Given the description of an element on the screen output the (x, y) to click on. 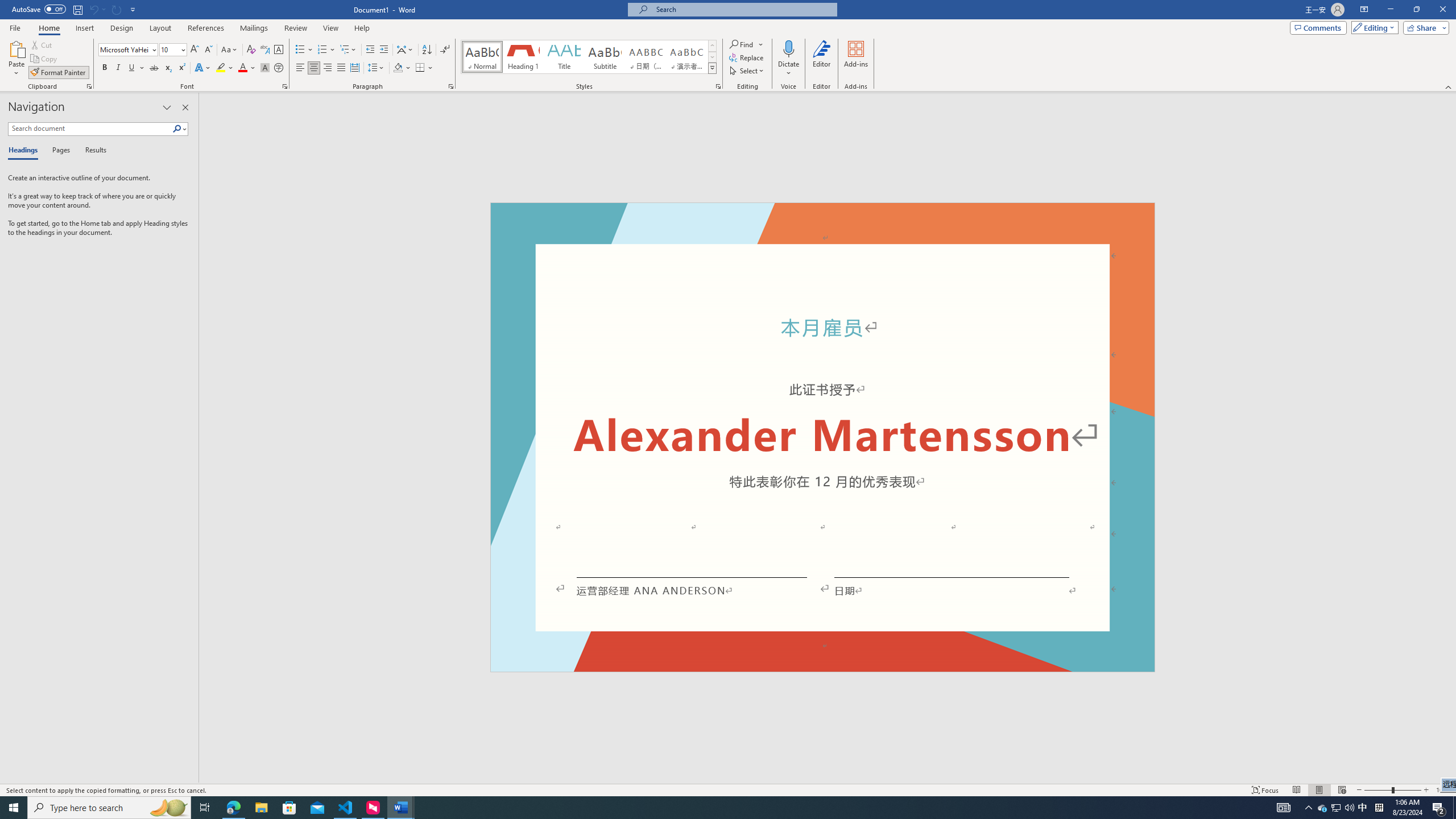
Editor (821, 58)
Justify (340, 67)
Decorative (822, 437)
Center (313, 67)
Mode (1372, 27)
Class: MsoCommandBar (728, 789)
Collapse the Ribbon (1448, 86)
Enclose Characters... (278, 67)
Restore Down (1416, 9)
Search (177, 128)
File Tab (15, 27)
Italic (118, 67)
View (330, 28)
Insert (83, 28)
